Given the description of an element on the screen output the (x, y) to click on. 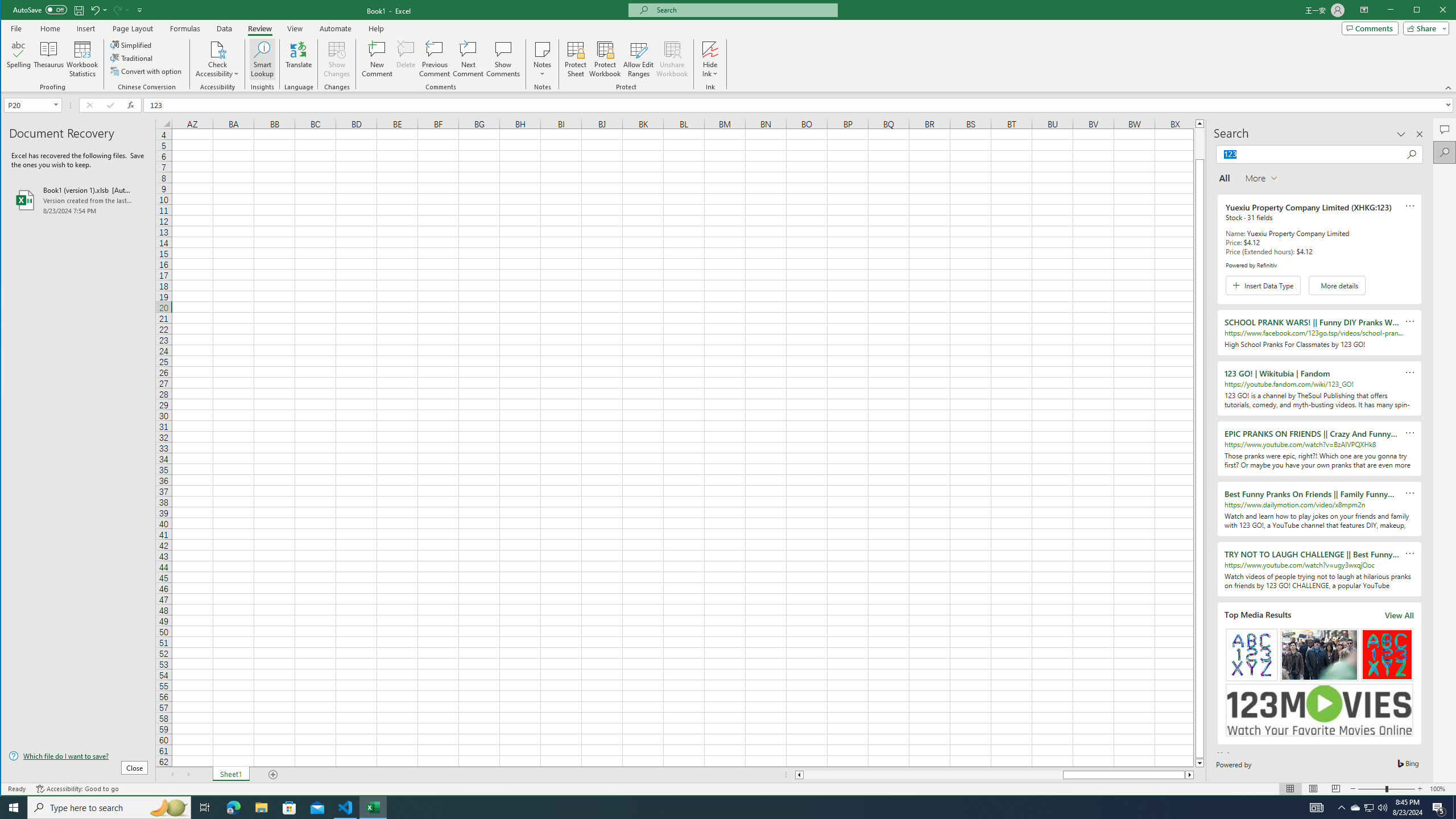
Unshare Workbook (671, 59)
Show desktop (1454, 807)
Microsoft Store (289, 807)
Previous Comment (1368, 807)
Convert with option (434, 59)
Smart Lookup (146, 70)
Thesaurus... (261, 59)
